Given the description of an element on the screen output the (x, y) to click on. 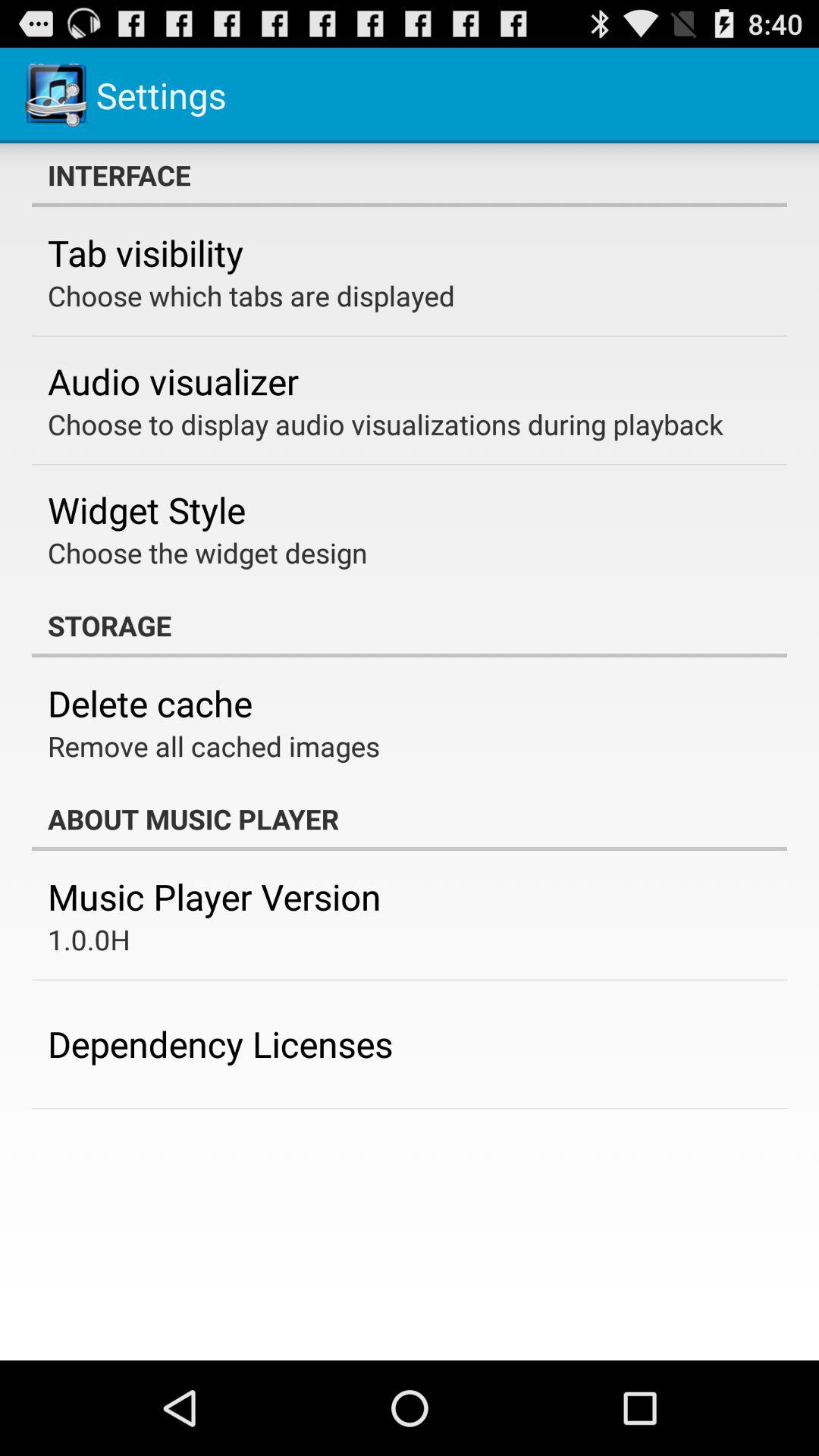
swipe until the interface icon (409, 175)
